Given the description of an element on the screen output the (x, y) to click on. 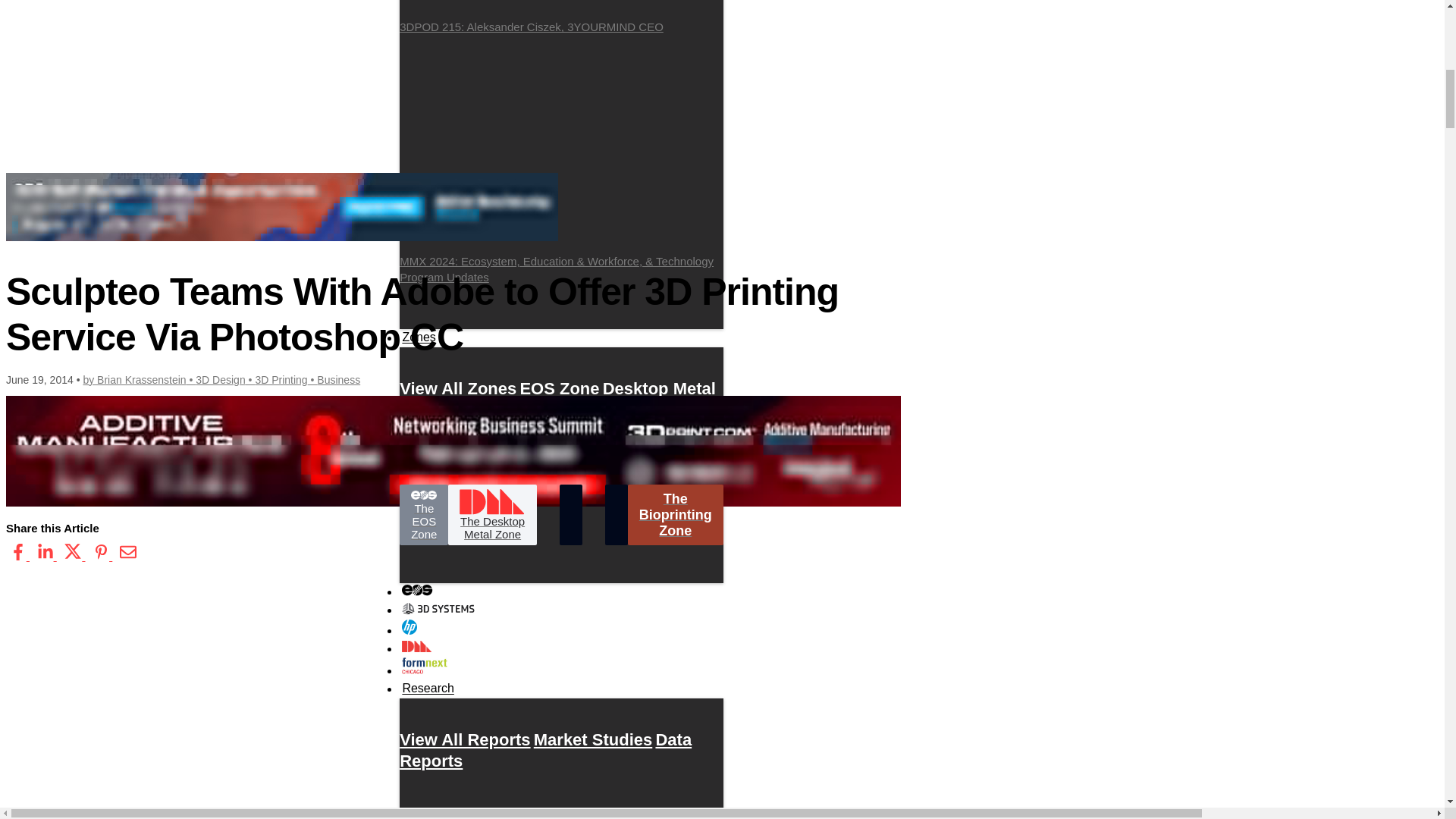
3DPOD 215: Aleksander Ciszek, 3YOURMIND CEO (560, 17)
View All Zones (457, 388)
The HP Zone (449, 452)
Zones (418, 337)
The Desktop Metal Zone (491, 514)
3D Printing Stocks Zone (527, 462)
The 3D Systems Zone (552, 420)
Desktop Metal Zone (557, 398)
EOS Zone (558, 388)
Bioprinting Zone (509, 409)
